Given the description of an element on the screen output the (x, y) to click on. 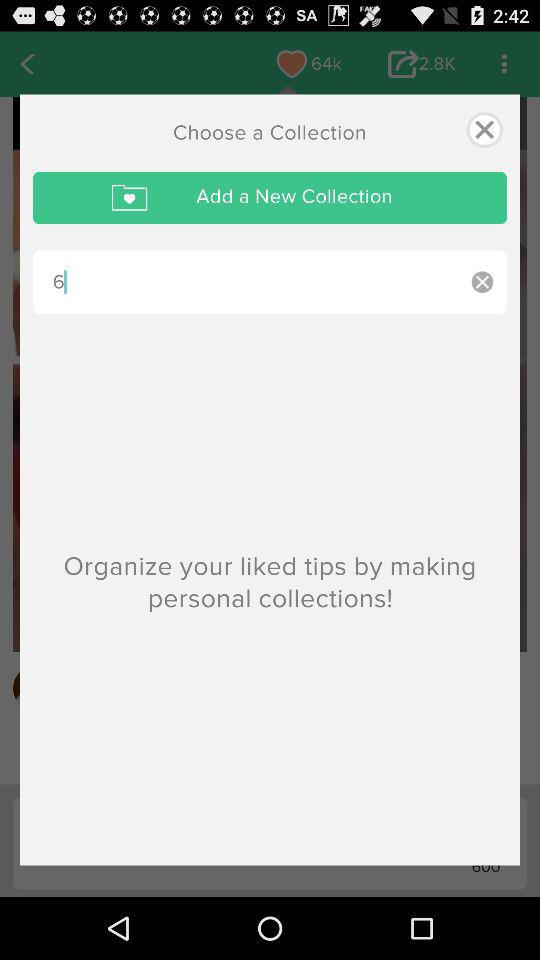
click the item next to choose a collection icon (484, 129)
